Given the description of an element on the screen output the (x, y) to click on. 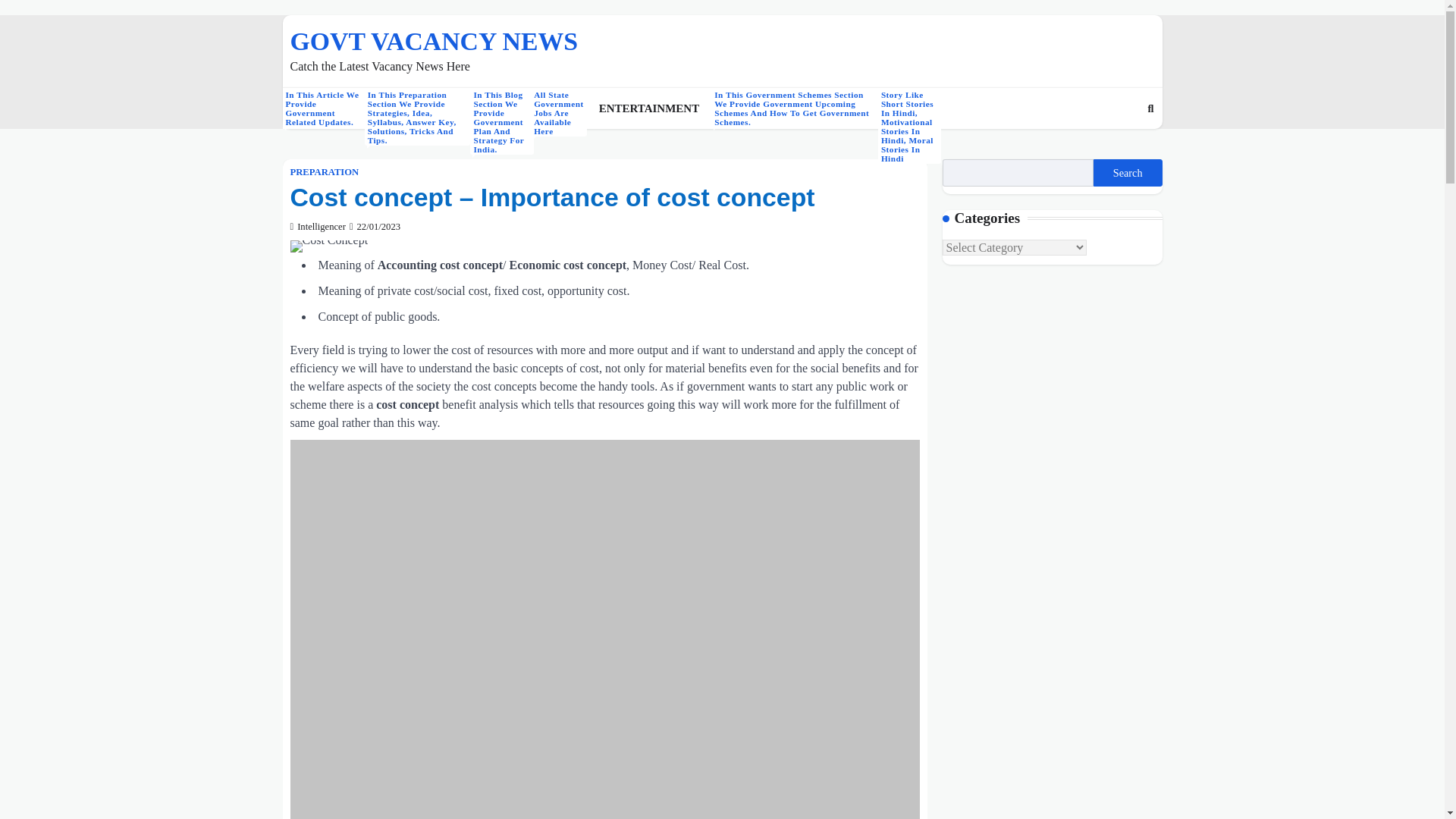
Search (1149, 108)
Intelligencer (560, 108)
GOVT VACANCY NEWS (317, 226)
Search (432, 41)
PREPARATION (1122, 144)
Search (323, 172)
ENTERTAINMENT (1127, 172)
